Given the description of an element on the screen output the (x, y) to click on. 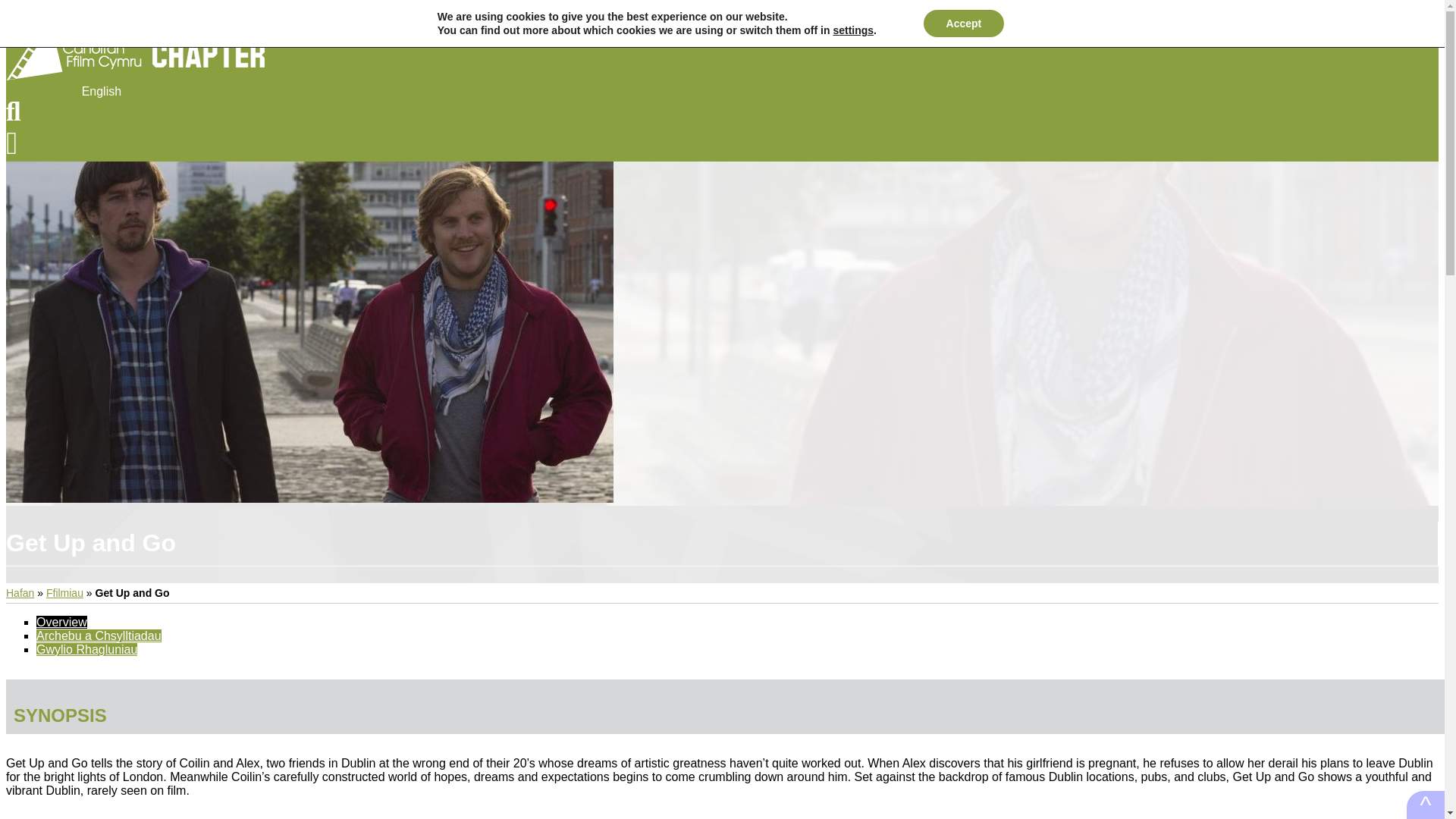
settings (852, 29)
Mewngofnodi (43, 91)
Ffilmiau (64, 592)
Accept (963, 22)
Archebu a Chsylltiadau (98, 635)
Go to top of the page (1425, 805)
English (100, 91)
Overview (61, 621)
Hafan (19, 592)
Gwylio Rhagluniau (86, 649)
